Given the description of an element on the screen output the (x, y) to click on. 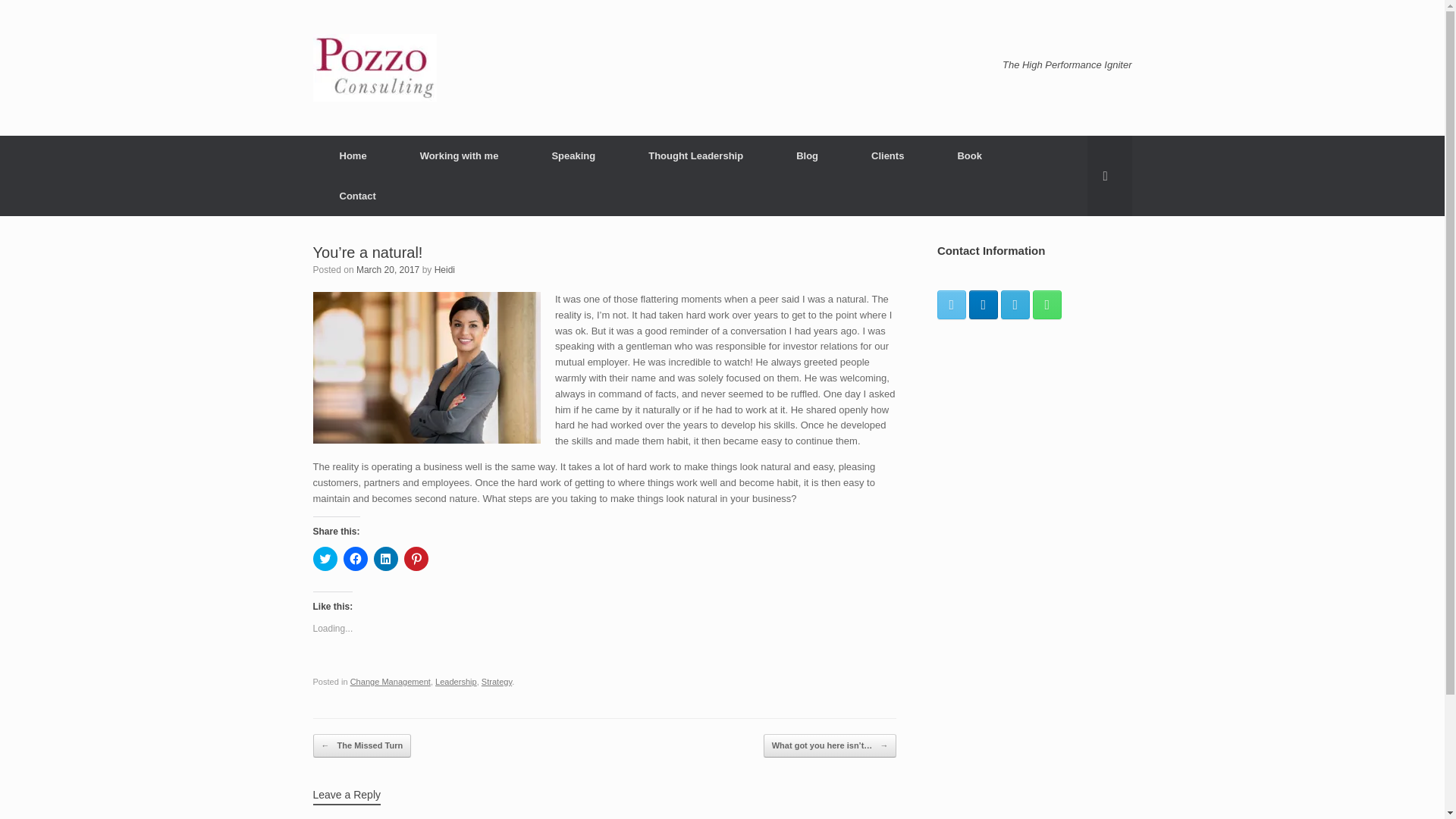
View all posts by Heidi (443, 269)
Book (969, 155)
Clients (887, 155)
Leadership (456, 681)
Click to share on LinkedIn (384, 558)
Click to share on Pinterest (415, 558)
Thought Leadership (695, 155)
Change Management (390, 681)
Working with me (459, 155)
Pozzo Consulting LinkedIn (983, 303)
Click to share on Twitter (324, 558)
Click to share on Facebook (354, 558)
Blog (807, 155)
Strategy (496, 681)
March 20, 2017 (387, 269)
